Given the description of an element on the screen output the (x, y) to click on. 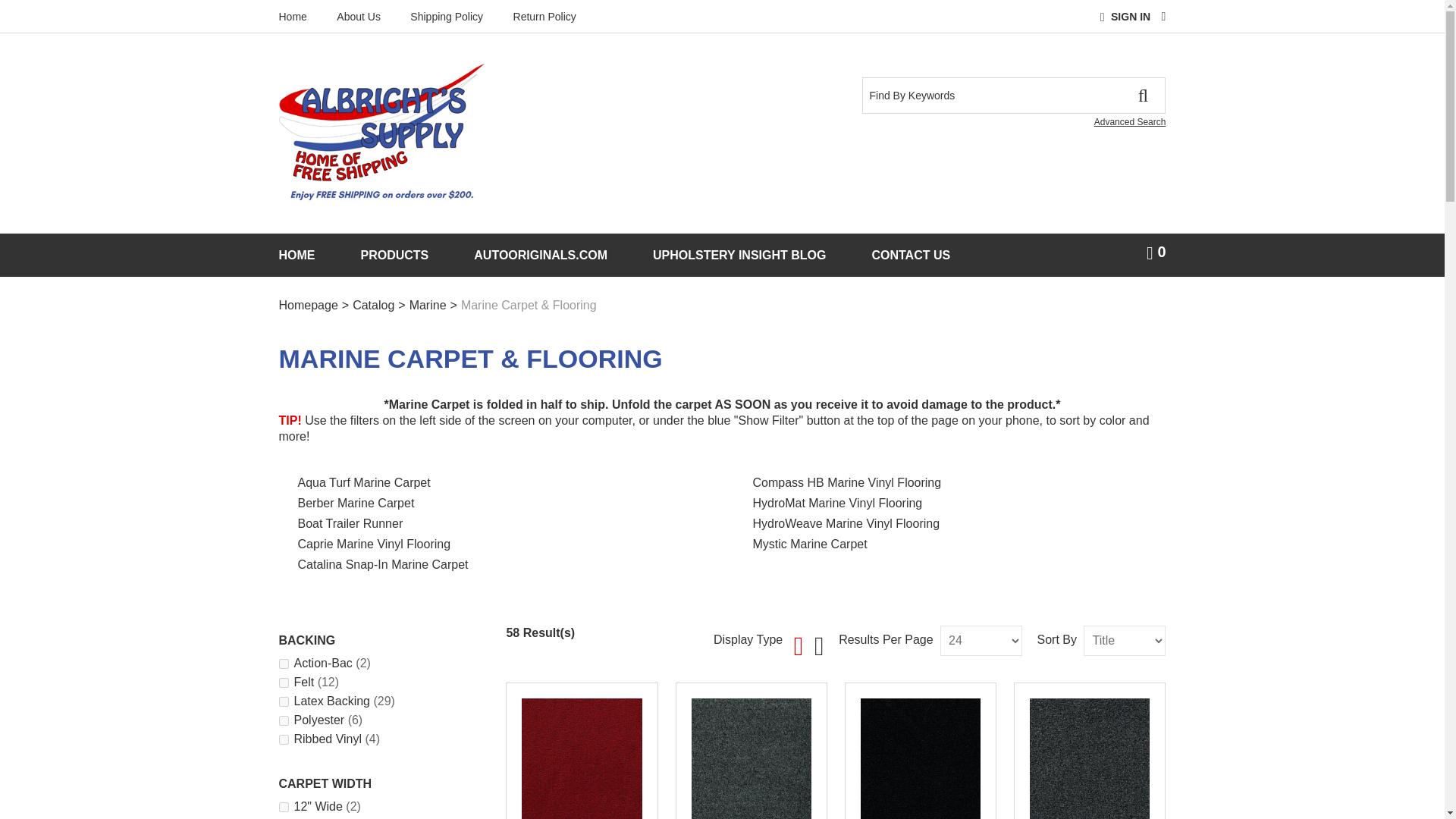
Aqua Turf Marine Carpet 8' 6" Black (920, 758)
SIGN IN (1130, 16)
HydroMat Marine Vinyl Flooring (836, 502)
AUTOORIGINALS.COM (540, 254)
Catalina Snap-In Marine Carpet (382, 563)
Homepage (308, 305)
False (283, 682)
Return Policy (544, 16)
Marine (427, 305)
False (283, 807)
